Given the description of an element on the screen output the (x, y) to click on. 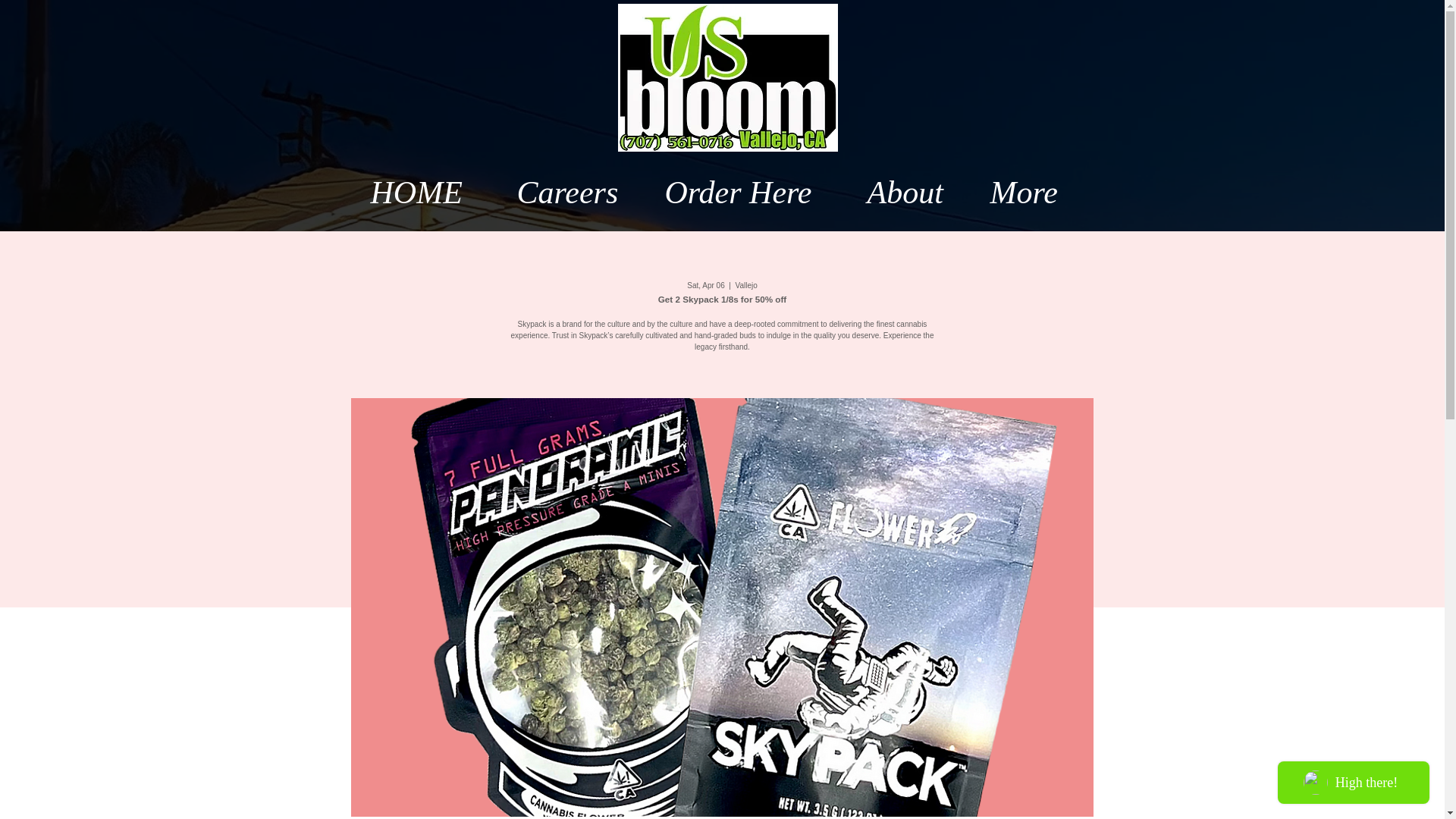
HOME (432, 181)
About (917, 181)
Careers (578, 181)
Order Here (754, 181)
logo300.jpg (727, 77)
